Given the description of an element on the screen output the (x, y) to click on. 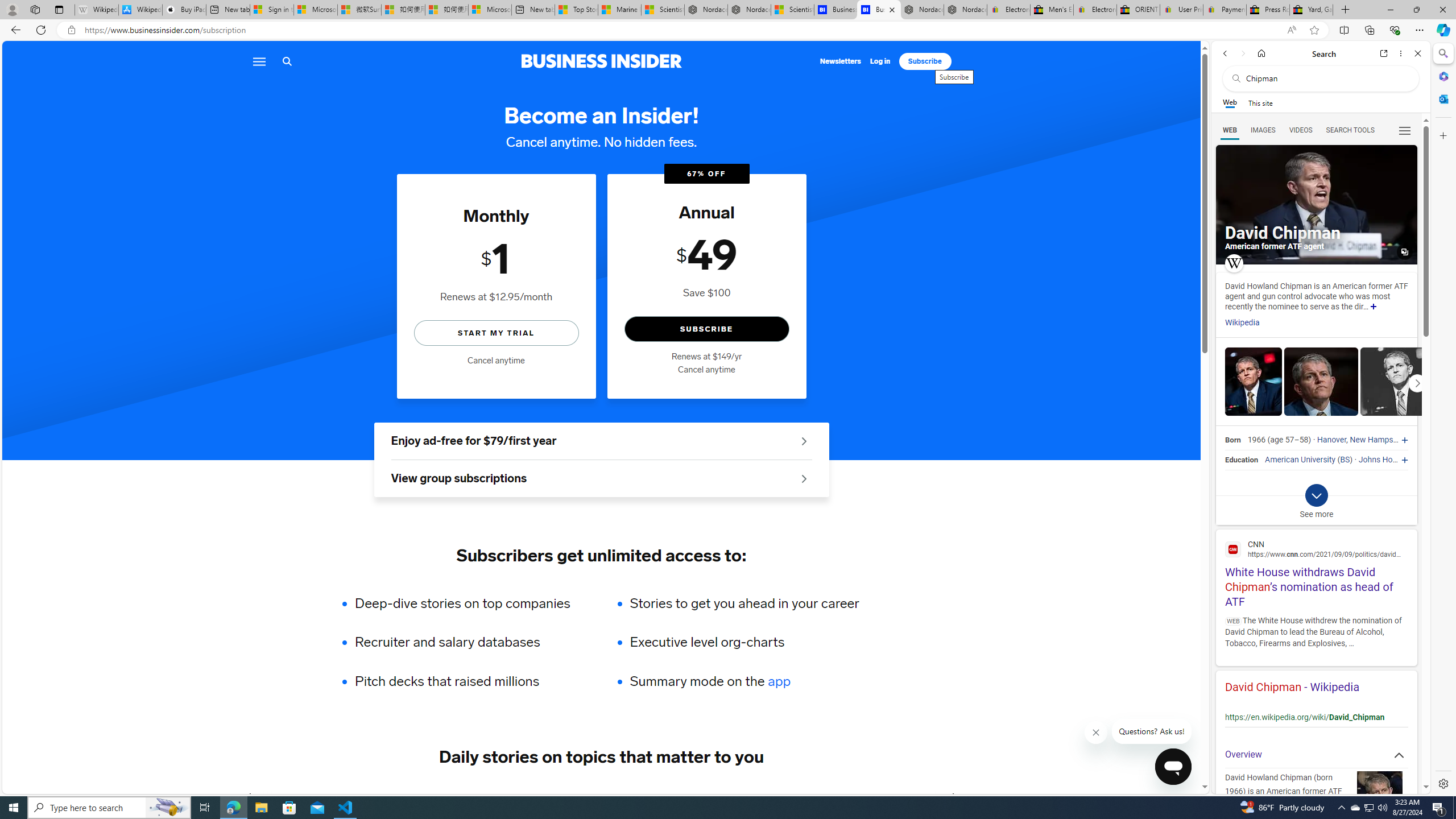
Stories to get you ahead in your career (743, 602)
ADVERTISING (349, 796)
Class: b_exp_chevron_svg b_expmob_chev (1315, 495)
Pitch decks that raised millions (470, 681)
